Given the description of an element on the screen output the (x, y) to click on. 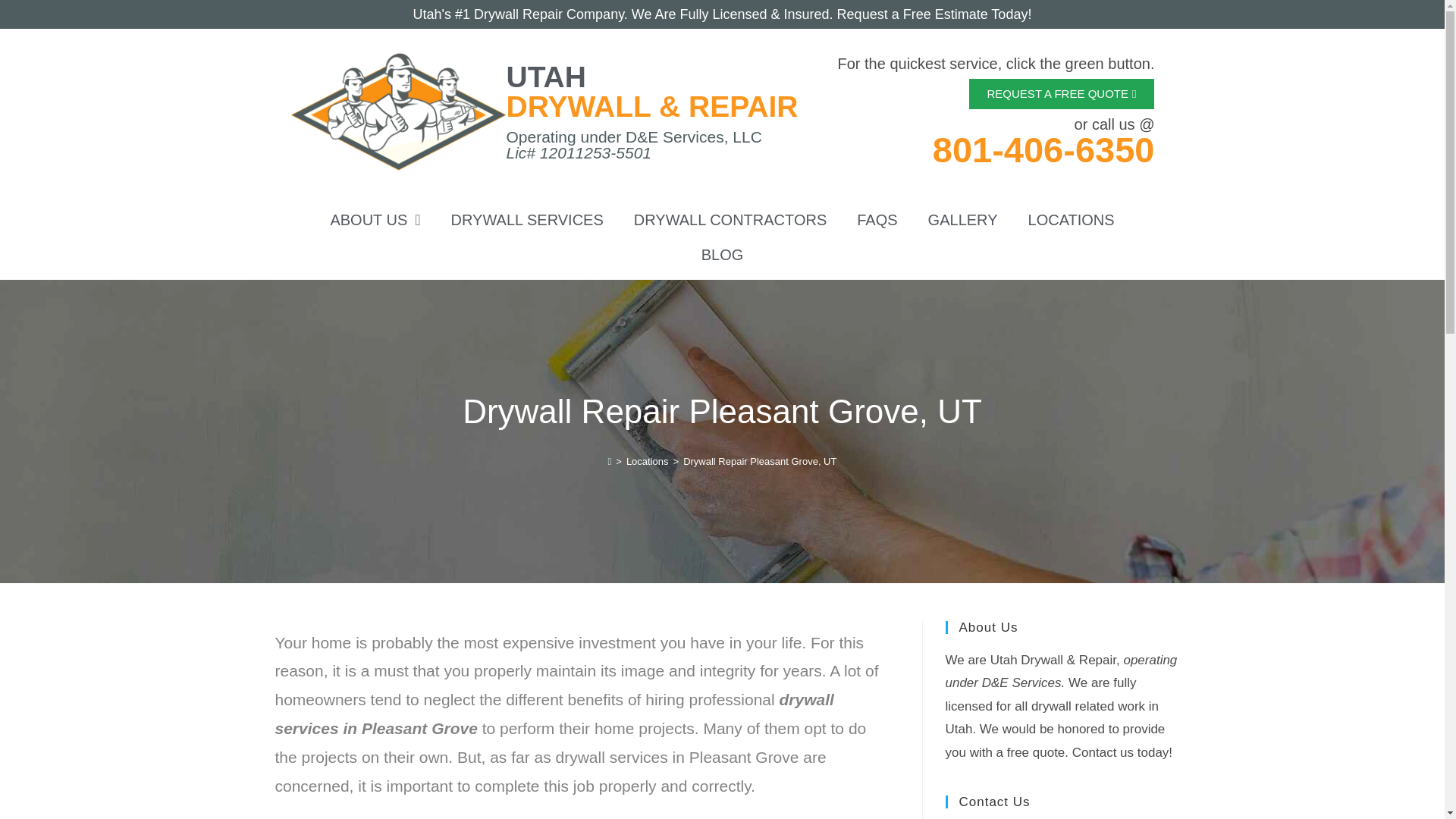
Locations (647, 460)
Drywall Repair Pleasant Grove, UT (758, 460)
DRYWALL SERVICES (526, 219)
DRYWALL CONTRACTORS (729, 219)
801-406-6350 (1043, 149)
LOCATIONS (1071, 219)
BLOG (721, 254)
REQUEST A FREE QUOTE (1061, 93)
FAQS (876, 219)
GALLERY (962, 219)
ABOUT US (374, 219)
